Given the description of an element on the screen output the (x, y) to click on. 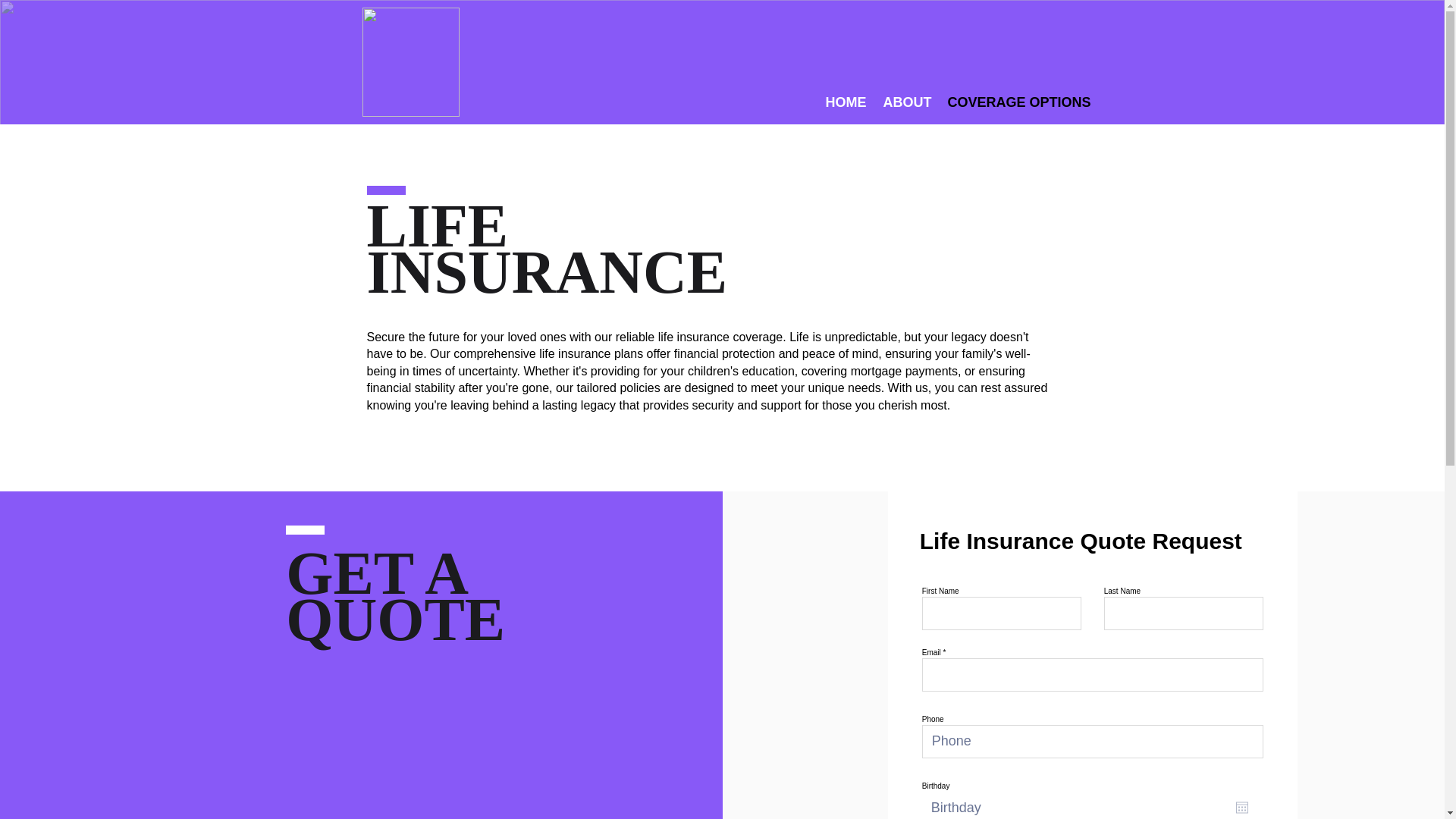
ABOUT (907, 102)
HOME (845, 102)
COVERAGE OPTIONS (1016, 102)
